Given the description of an element on the screen output the (x, y) to click on. 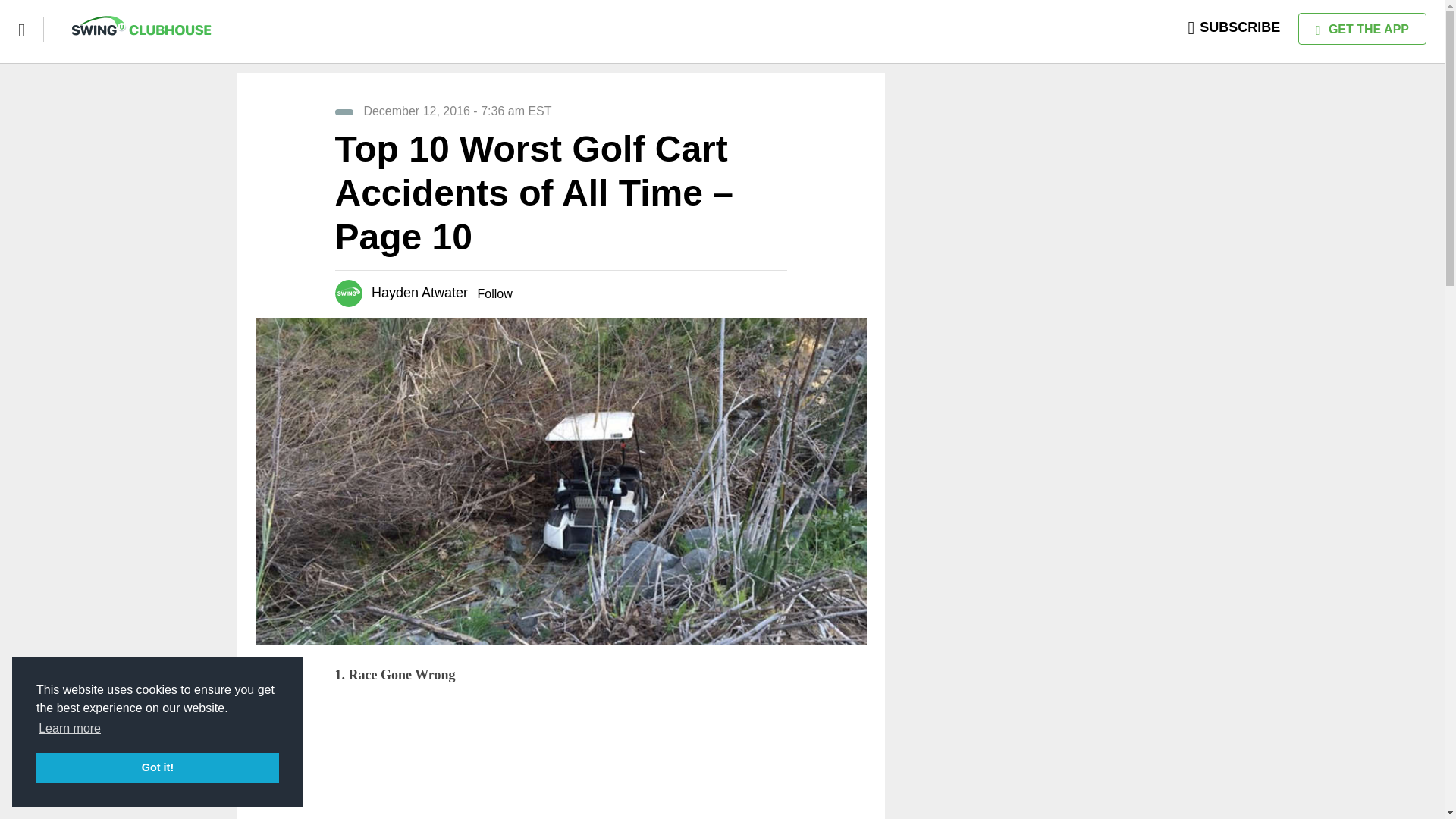
GET THE APP (1362, 29)
Follow (494, 293)
Got it! (157, 767)
Learn more (69, 728)
SUBSCRIBE (1234, 27)
Hayden Atwater (419, 292)
